Given the description of an element on the screen output the (x, y) to click on. 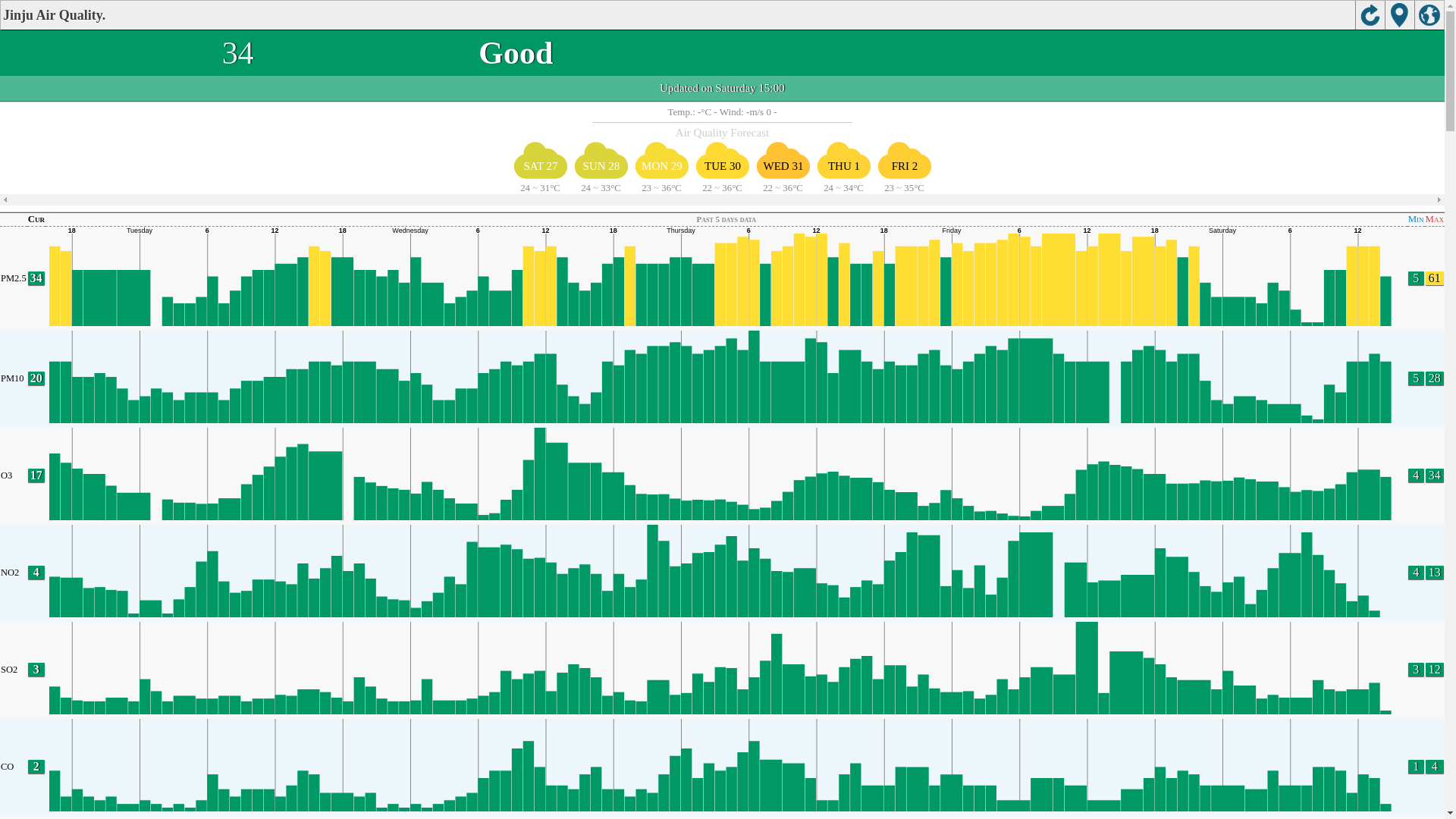
SAT 27 (539, 159)
MON 29 (660, 159)
FRI 2 (903, 159)
TUE 30 (721, 159)
WED 31 (782, 159)
THU 1 (842, 159)
SUN 28 (600, 159)
